Given the description of an element on the screen output the (x, y) to click on. 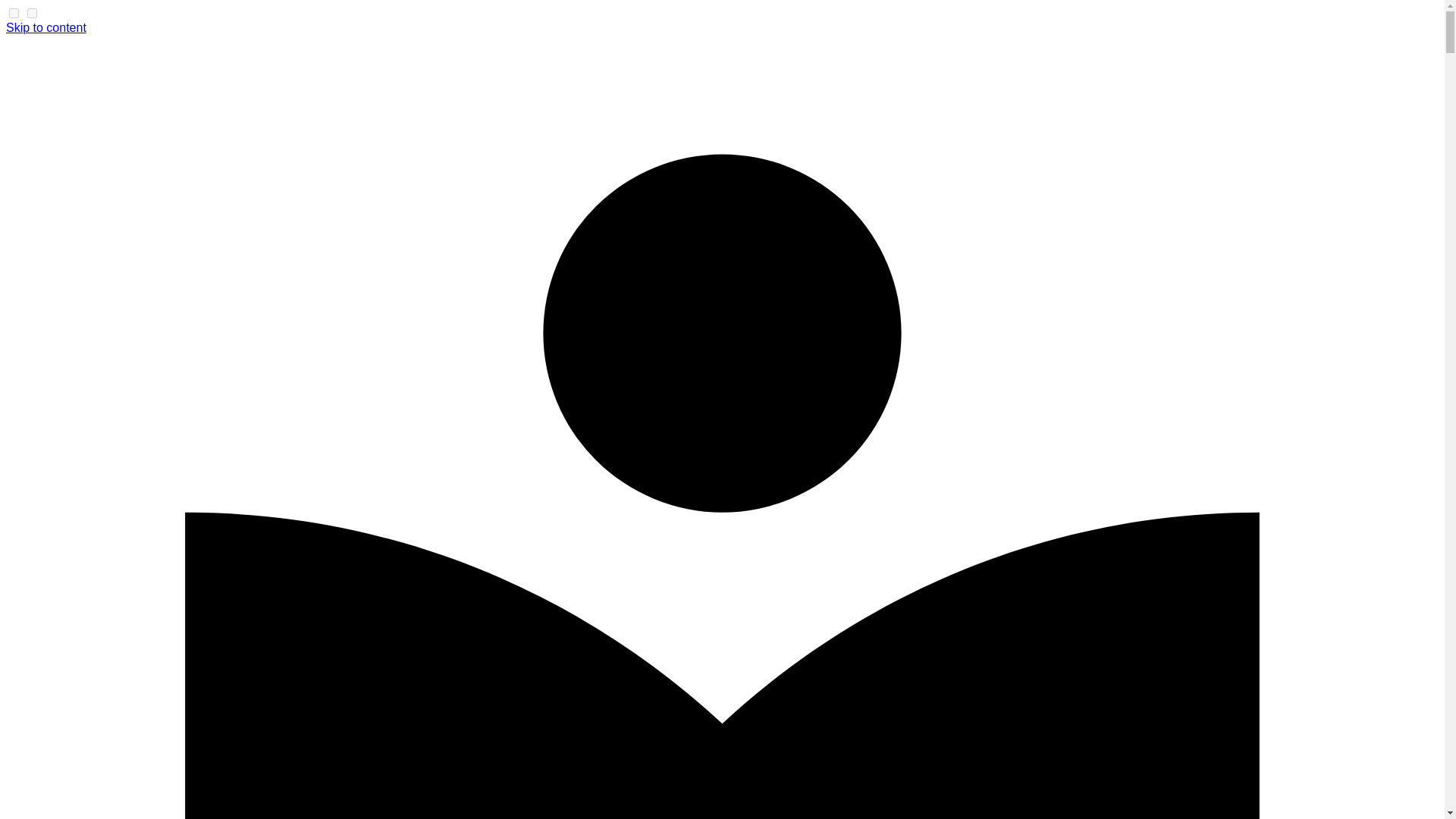
on (32, 13)
on (13, 13)
Skip to content (45, 27)
